Given the description of an element on the screen output the (x, y) to click on. 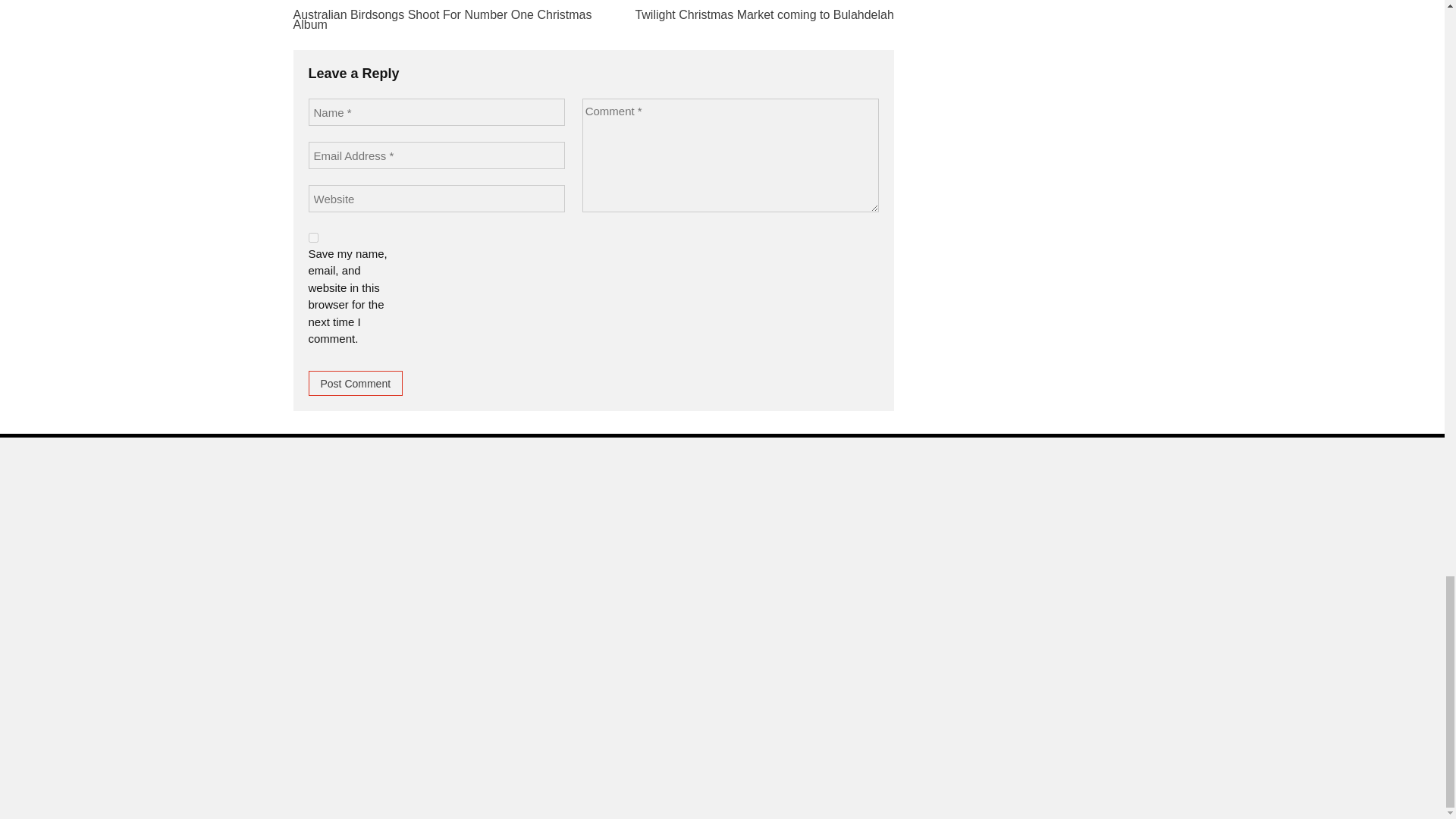
yes (312, 237)
Post Comment (355, 383)
